Given the description of an element on the screen output the (x, y) to click on. 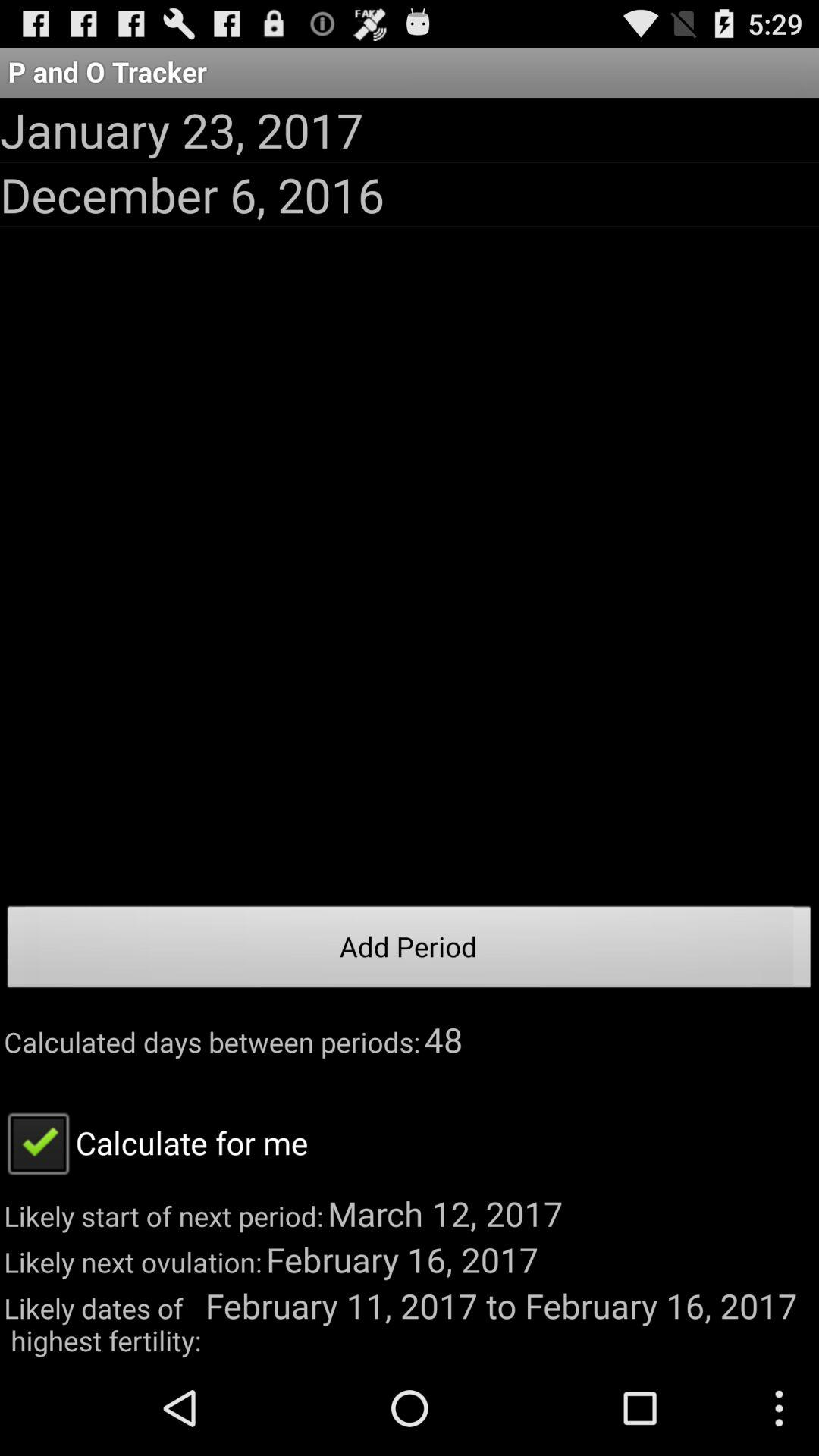
turn on the app above the likely start of item (154, 1142)
